Given the description of an element on the screen output the (x, y) to click on. 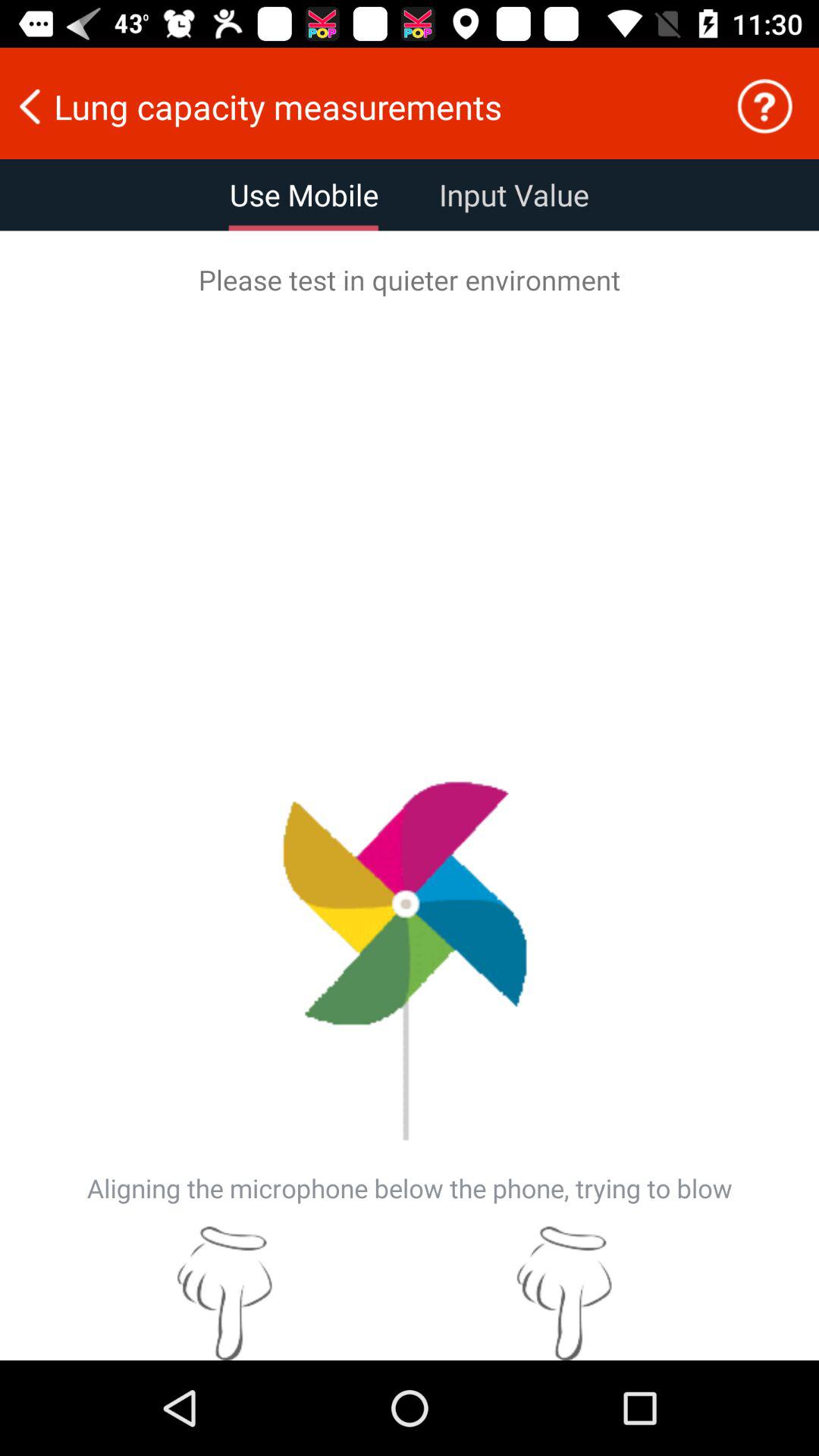
tap the item above please test in (303, 194)
